Given the description of an element on the screen output the (x, y) to click on. 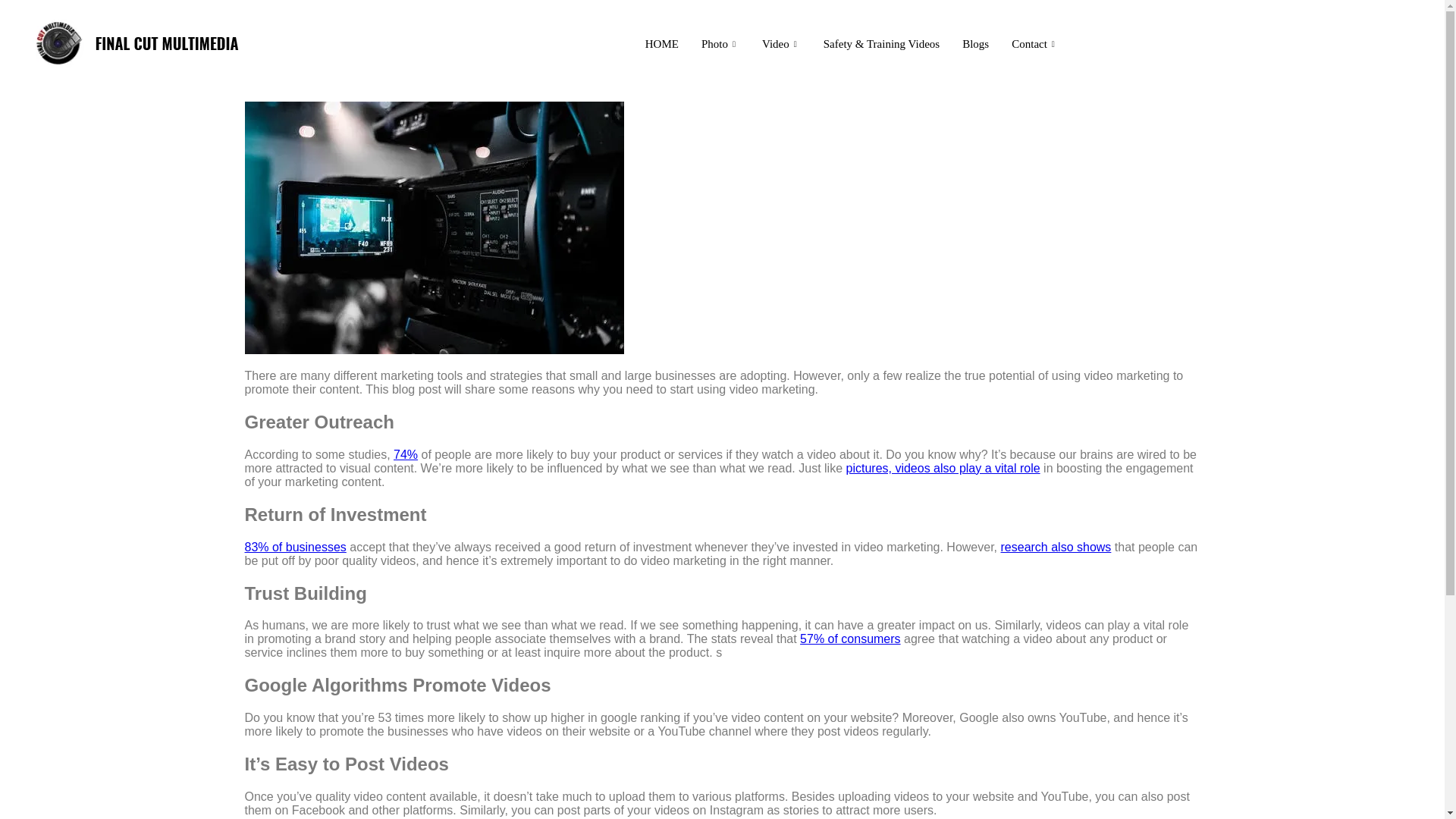
research also shows (1056, 546)
HOME (661, 43)
Video (781, 43)
Contact (1035, 43)
pictures, videos also play a vital role (943, 468)
Photo (720, 43)
